Given the description of an element on the screen output the (x, y) to click on. 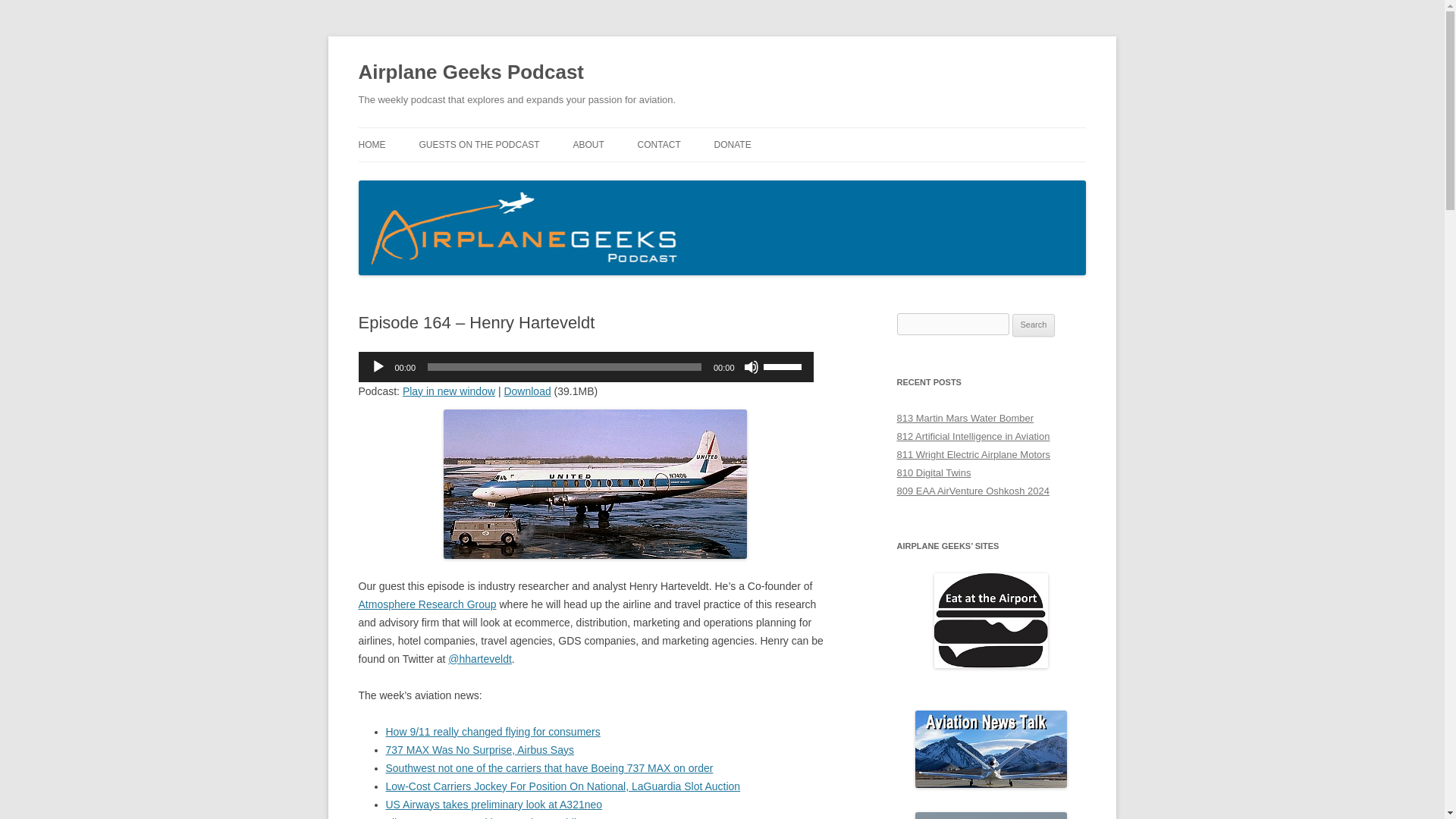
Search (1033, 324)
ABOUT (588, 144)
Mute (750, 366)
CONTACT (659, 144)
DONATE (732, 144)
GUESTS ON THE PODCAST (478, 144)
Download (526, 390)
